Given the description of an element on the screen output the (x, y) to click on. 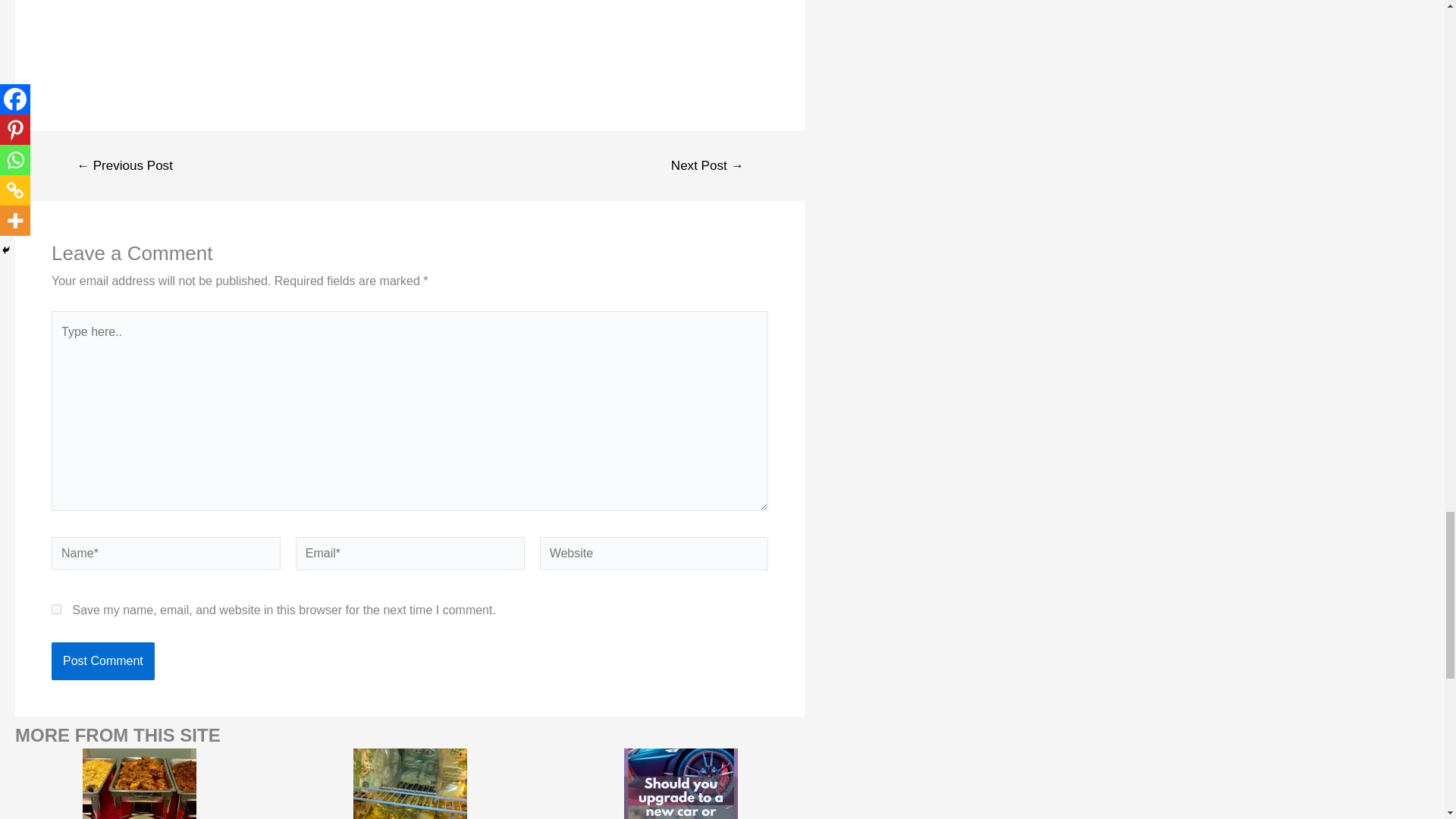
yes (55, 609)
Post Comment (102, 661)
